Given the description of an element on the screen output the (x, y) to click on. 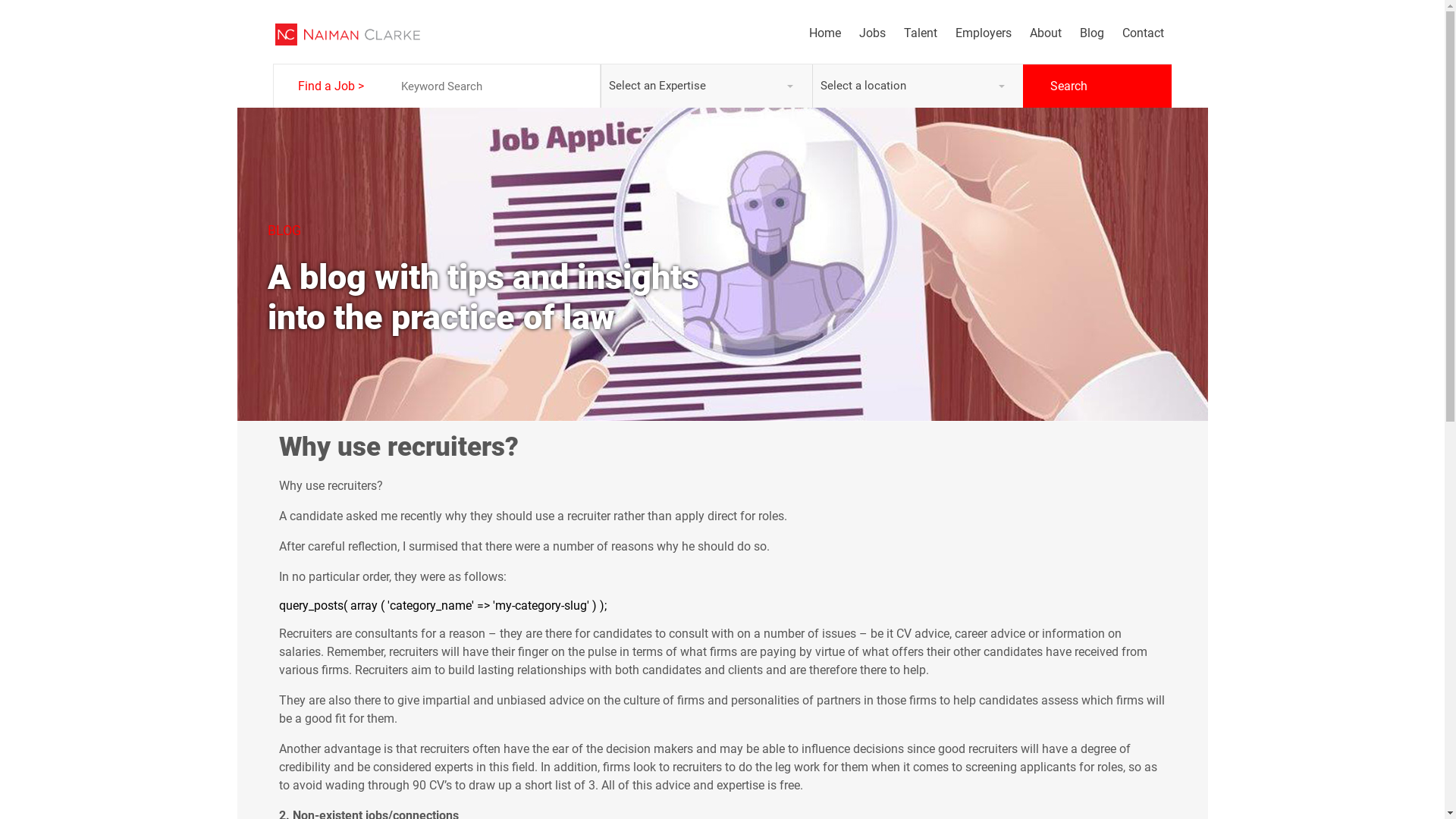
Employers Element type: text (974, 33)
Jobs Element type: text (862, 33)
Naiman Clarke Element type: hover (347, 34)
Talent Element type: text (911, 33)
Contact Element type: text (1134, 33)
Search Element type: text (1096, 85)
Keyword Search Element type: hover (494, 85)
Blog Element type: text (1082, 33)
About Element type: text (1036, 33)
Home Element type: text (815, 33)
